Given the description of an element on the screen output the (x, y) to click on. 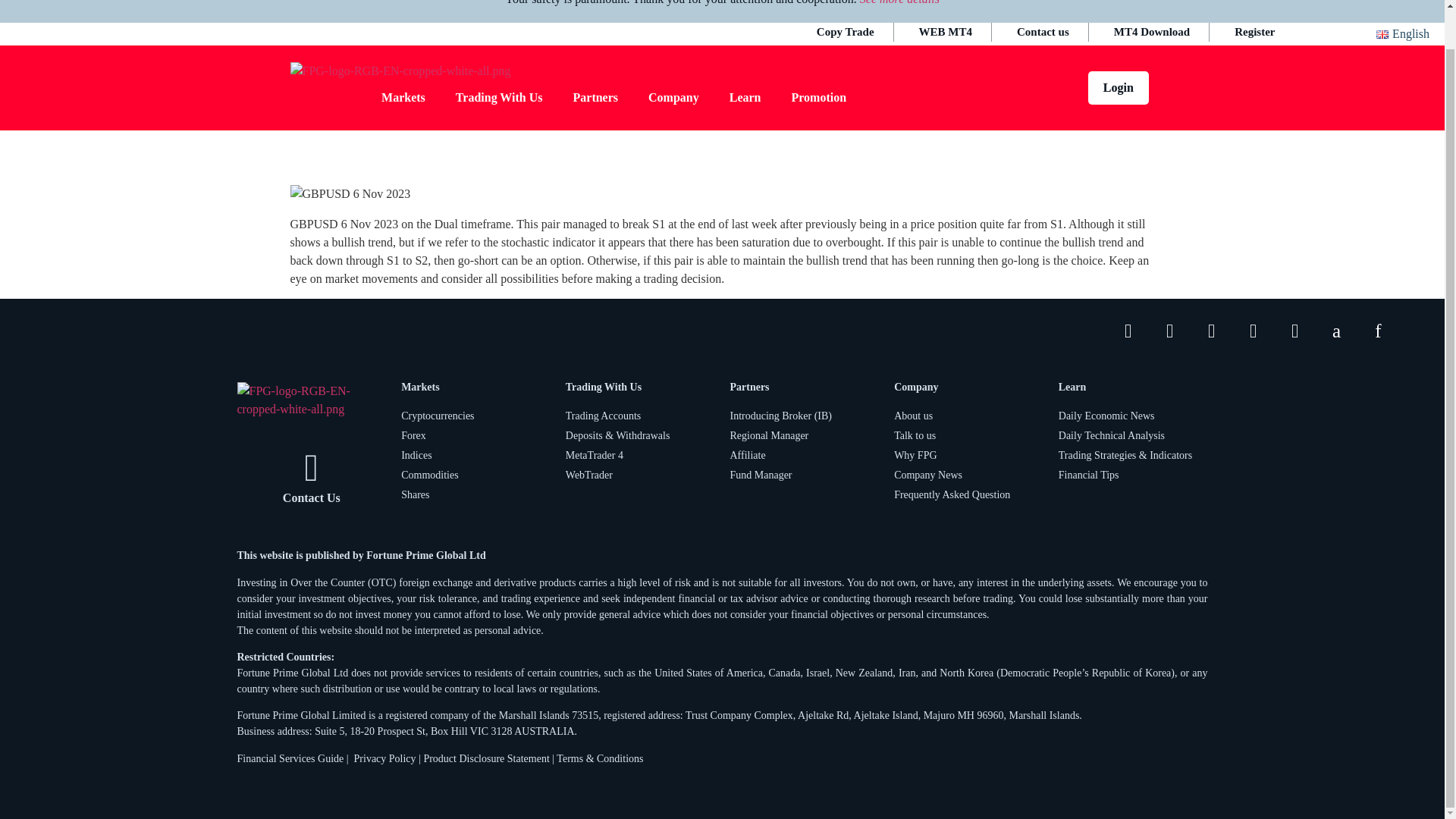
Contact us (1043, 31)
FPG-logo-RGB-EN-cropped-white-all.png (400, 71)
MT4 Download (1151, 31)
Trading With Us (499, 97)
Register (1254, 31)
Copy Trade (845, 31)
WEB MT4 (945, 31)
Markets (403, 97)
Company (673, 97)
Learn (745, 97)
